Given the description of an element on the screen output the (x, y) to click on. 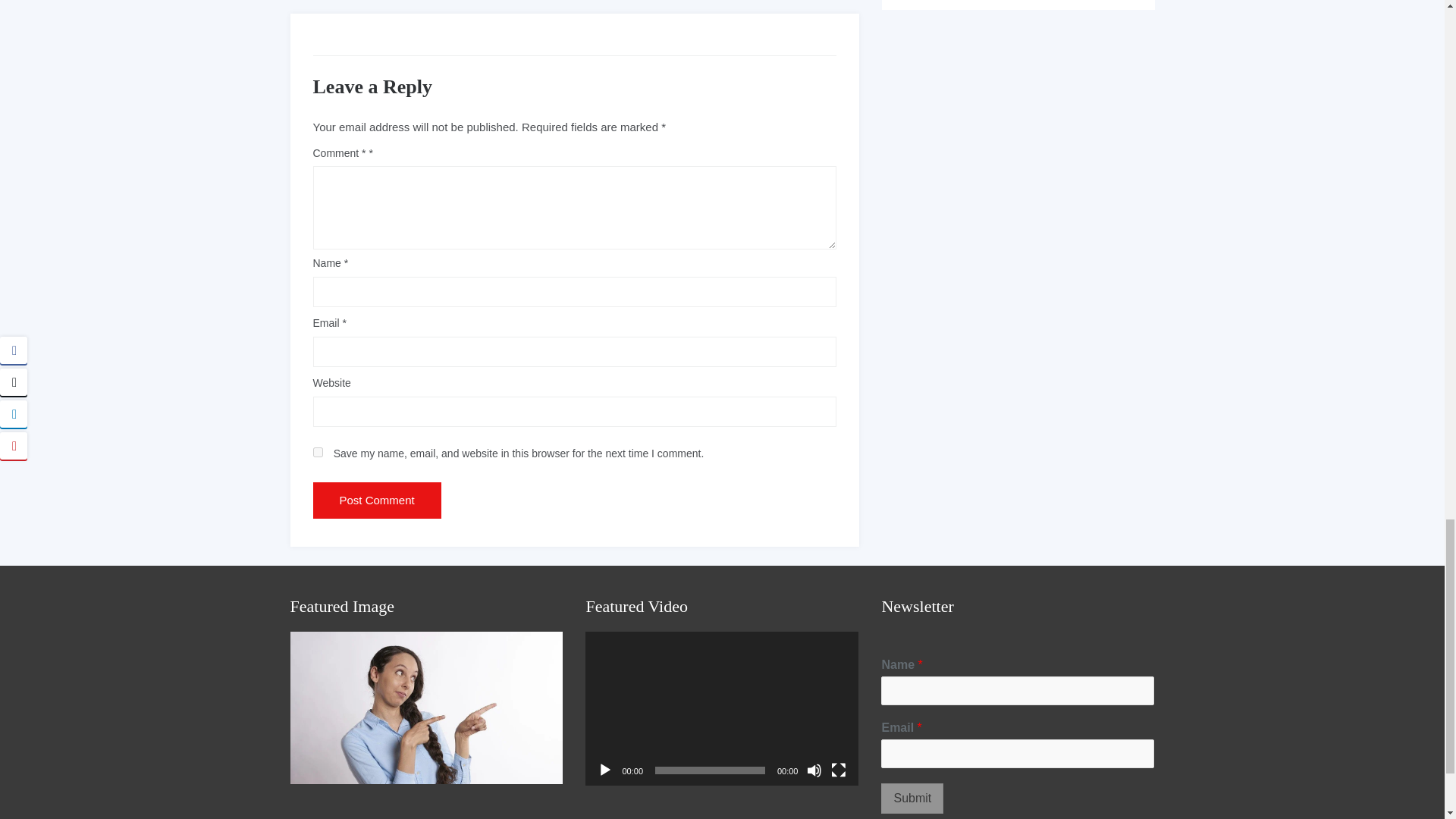
yes (317, 452)
Fullscreen (838, 770)
Post Comment (377, 500)
Post Comment (377, 500)
Mute (814, 770)
Play (604, 770)
